Given the description of an element on the screen output the (x, y) to click on. 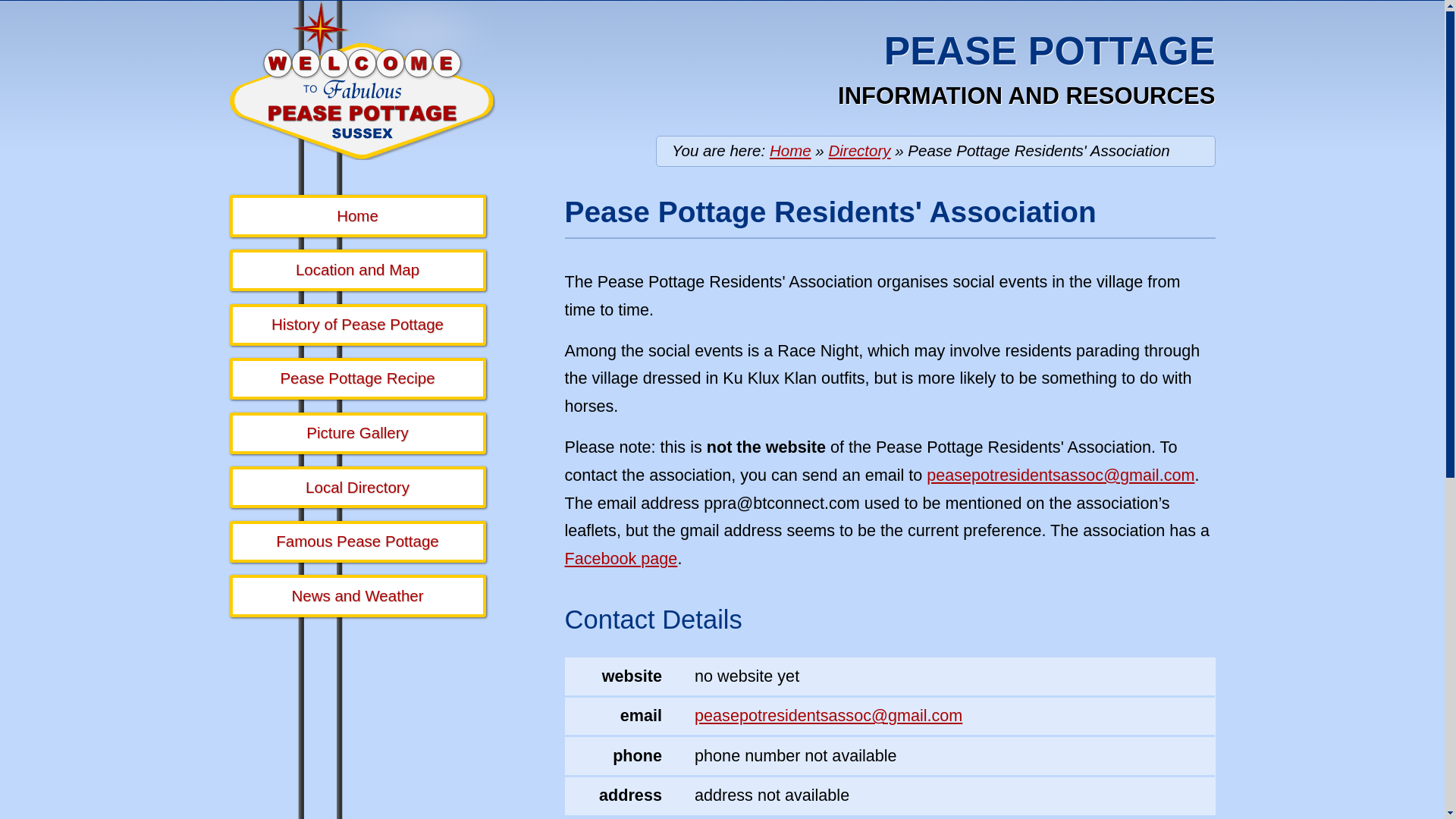
Recipe for Pease Pottage (356, 378)
Pease Pottage news and weather (356, 595)
Local Directory (356, 486)
Famous Pease Pottage (356, 541)
Pease Pottage Recipe (356, 378)
Skip the navigation (641, 27)
Pease Pottage local directory (356, 486)
Pease Pottage in Sussex (790, 149)
Photographs of Pease Pottage (356, 433)
Famous people and events in Pease Pottage (356, 541)
